Given the description of an element on the screen output the (x, y) to click on. 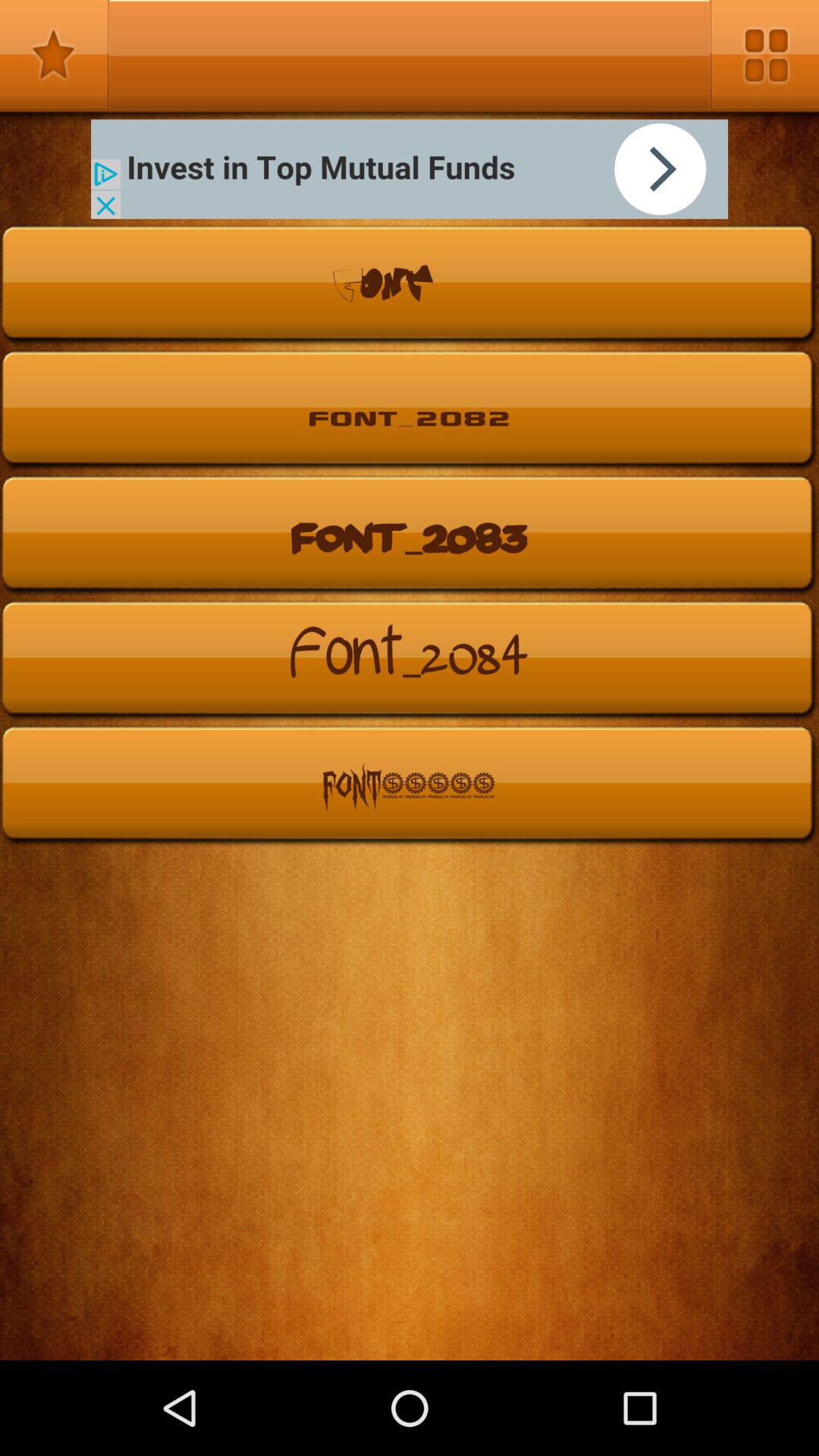
star icon (54, 54)
